Given the description of an element on the screen output the (x, y) to click on. 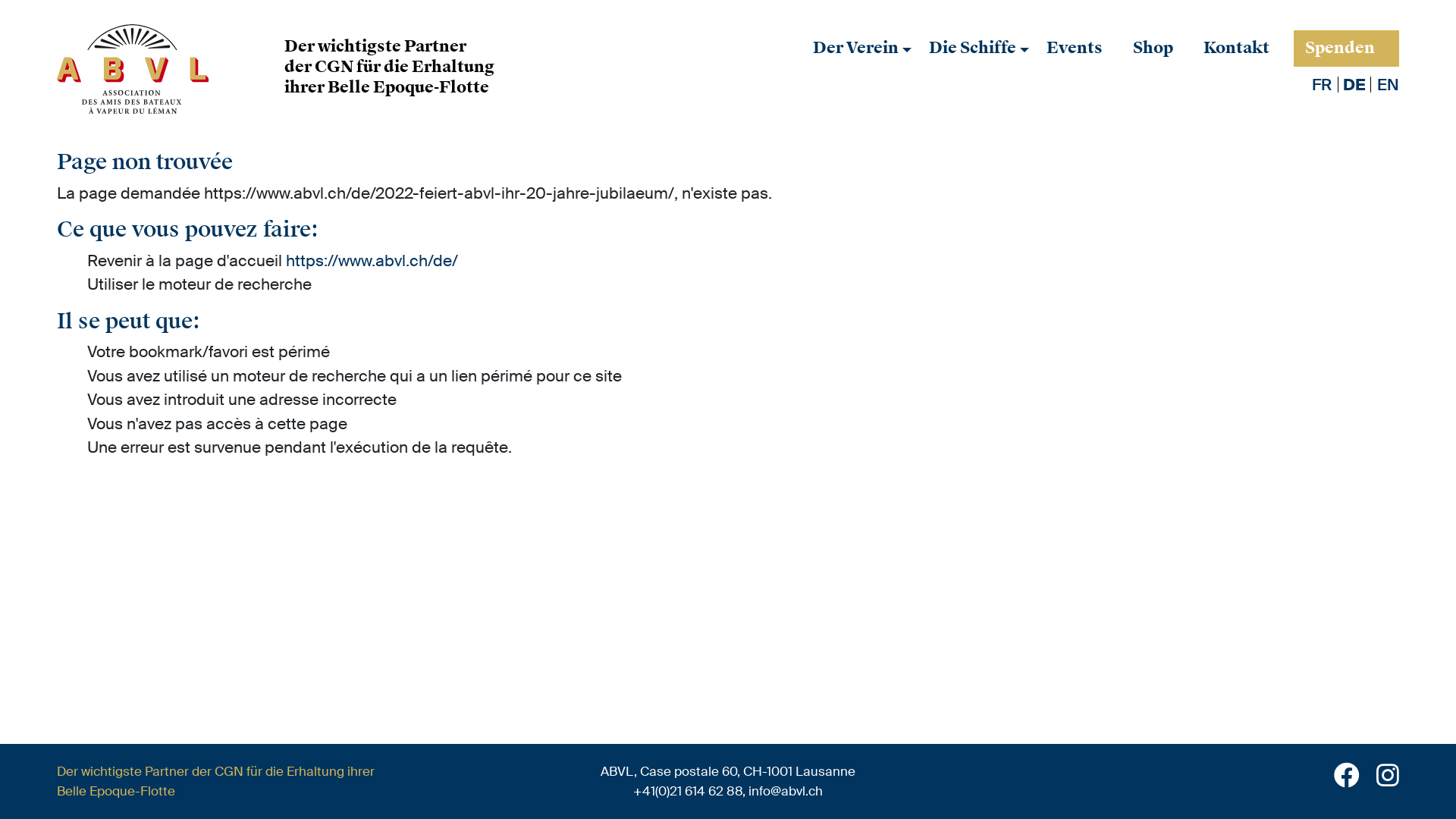
+41(0)21 614 62 88 Element type: text (687, 790)
info@abvl.ch Element type: text (785, 790)
DE Element type: text (1354, 83)
Kontakt Element type: text (1236, 48)
Die Schiffe Element type: text (972, 48)
EN Element type: text (1388, 83)
Shop Element type: text (1152, 48)
Der Verein Element type: text (855, 48)
https://www.abvl.ch/de/ Element type: text (371, 260)
FR Element type: text (1321, 83)
Events Element type: text (1074, 48)
Spenden Element type: text (1339, 47)
